Given the description of an element on the screen output the (x, y) to click on. 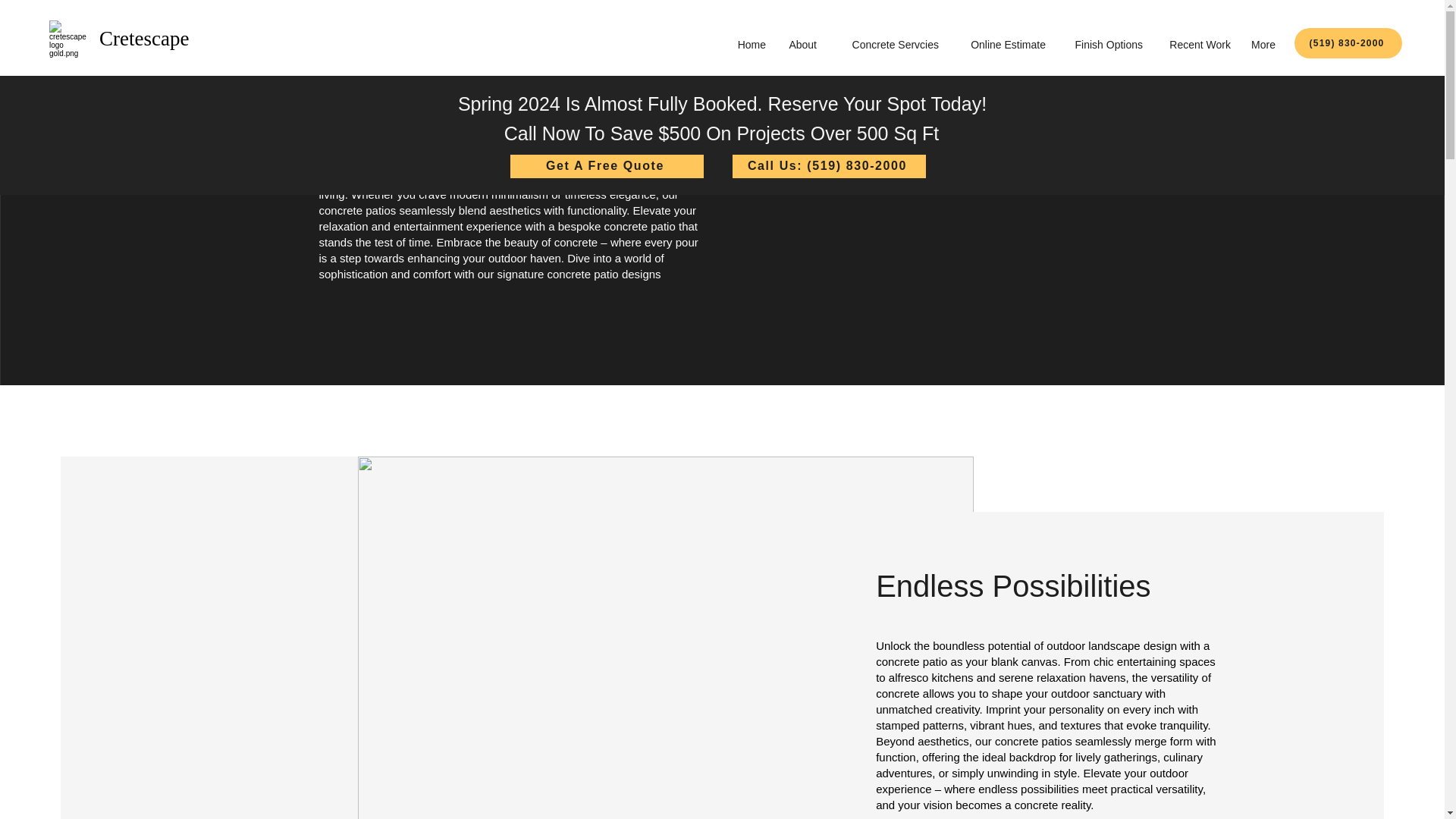
About (798, 44)
Recent Work (1194, 44)
Get A Free Quote (606, 166)
Finish Options (1101, 44)
Cretescape (144, 38)
Concrete Servcies (885, 44)
Home (749, 44)
Online Estimate (999, 44)
